Given the description of an element on the screen output the (x, y) to click on. 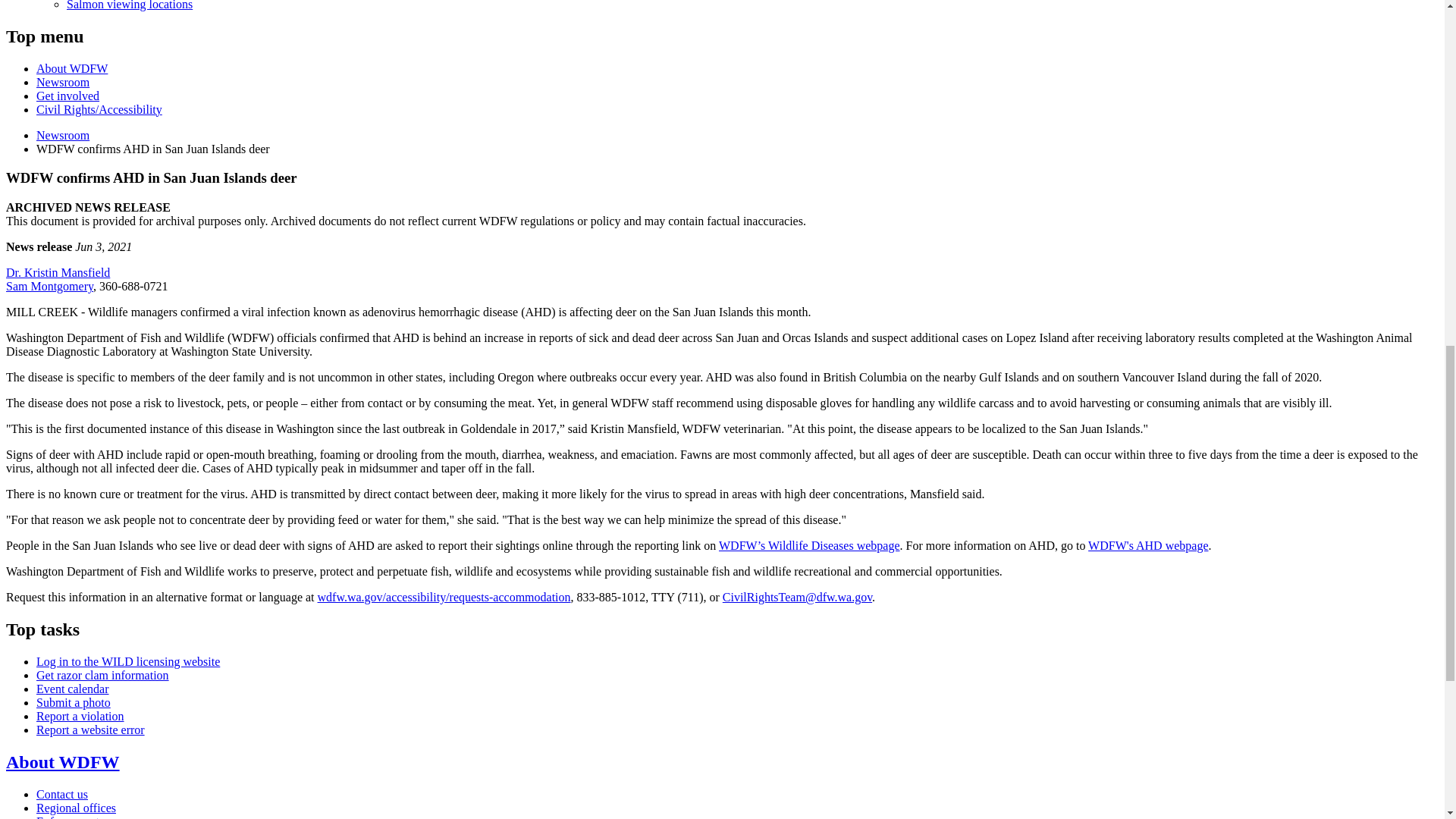
Find WDFW regional offices (76, 807)
